Given the description of an element on the screen output the (x, y) to click on. 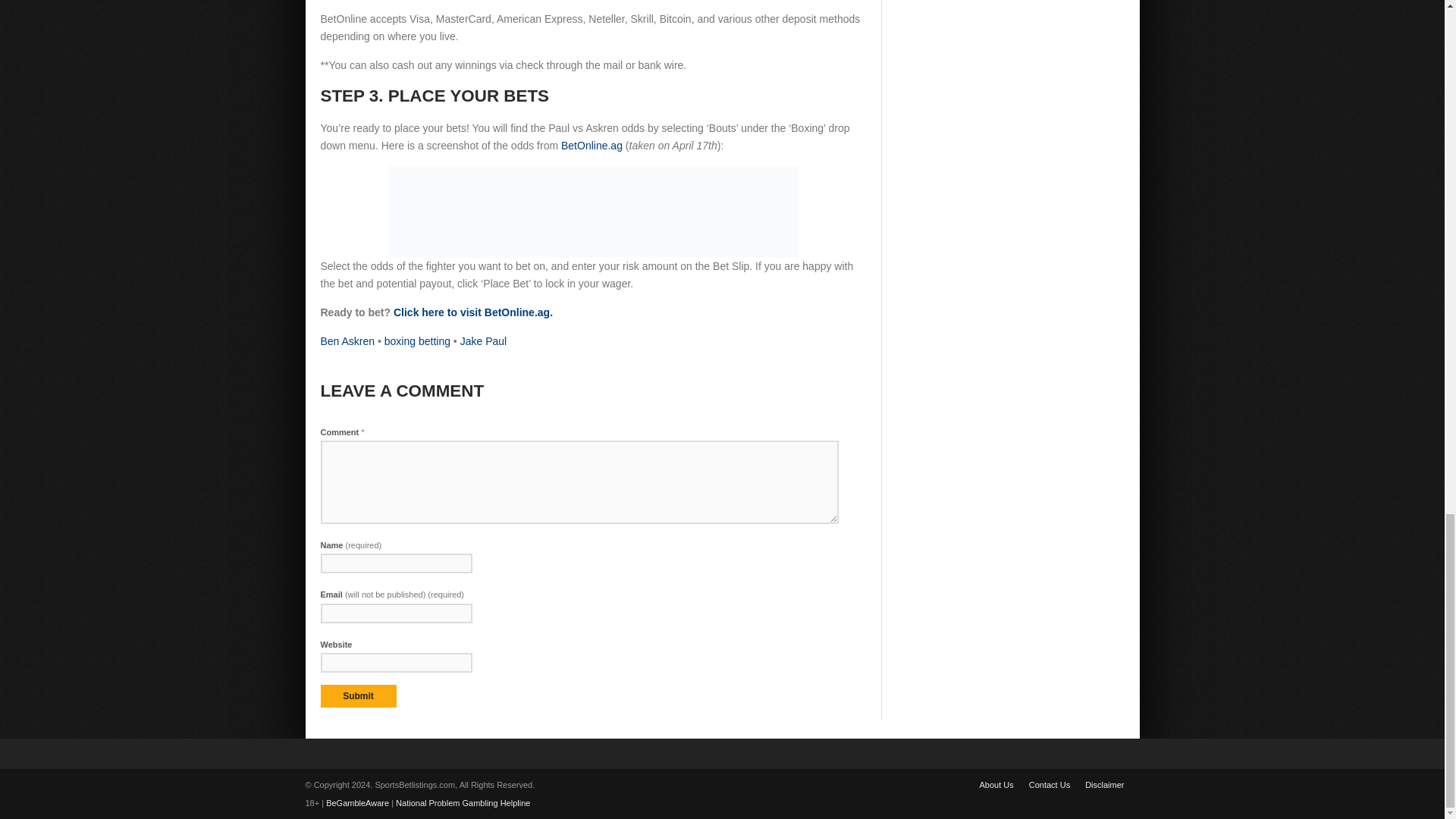
Submit (358, 695)
Submit (358, 695)
BetOnline.ag (591, 145)
boxing betting (416, 340)
Jake Paul (483, 340)
Ben Askren (347, 340)
Click here to visit BetOnline.ag. (473, 312)
